Given the description of an element on the screen output the (x, y) to click on. 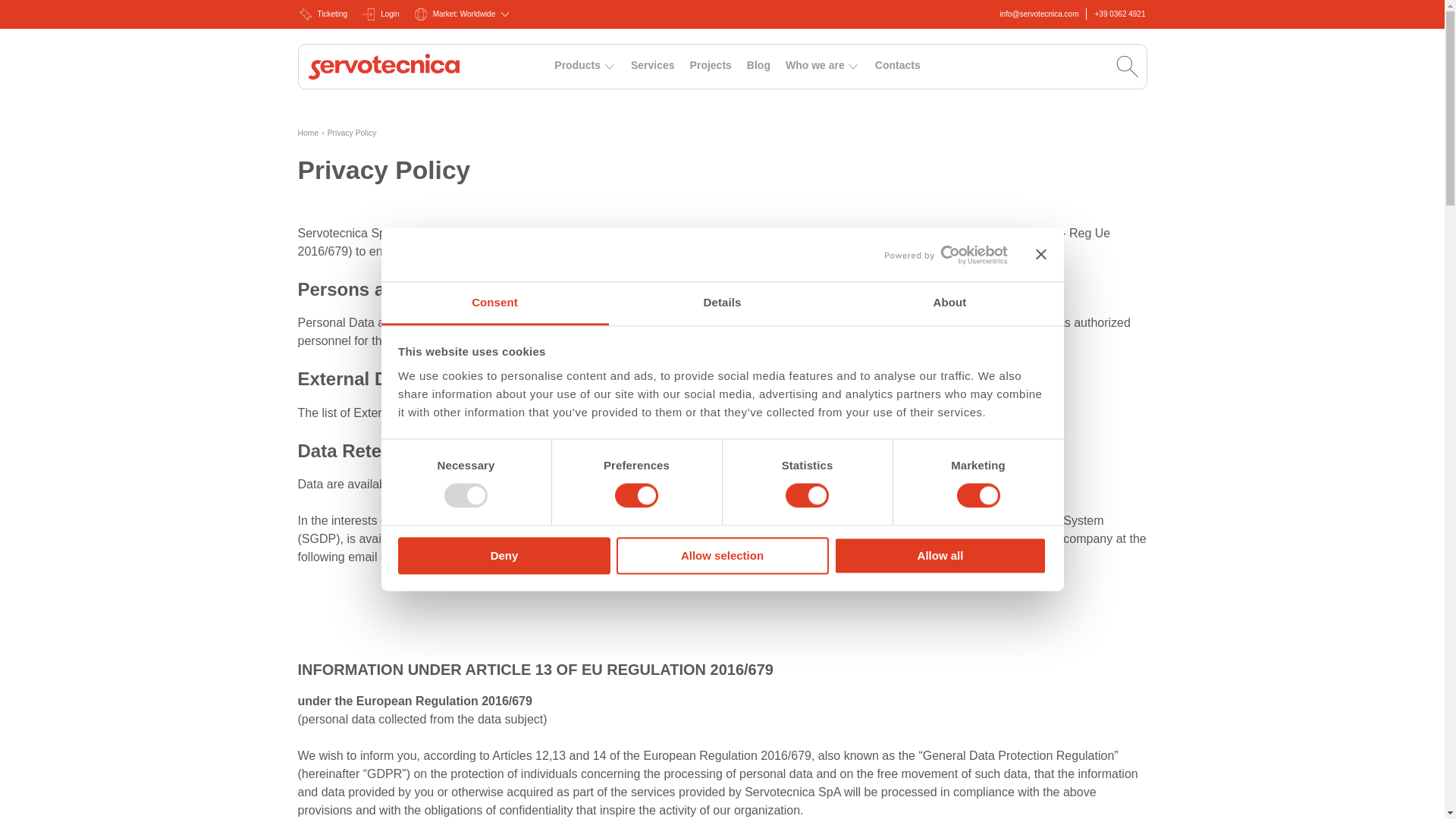
About (948, 303)
Details (721, 303)
Consent (494, 303)
